Given the description of an element on the screen output the (x, y) to click on. 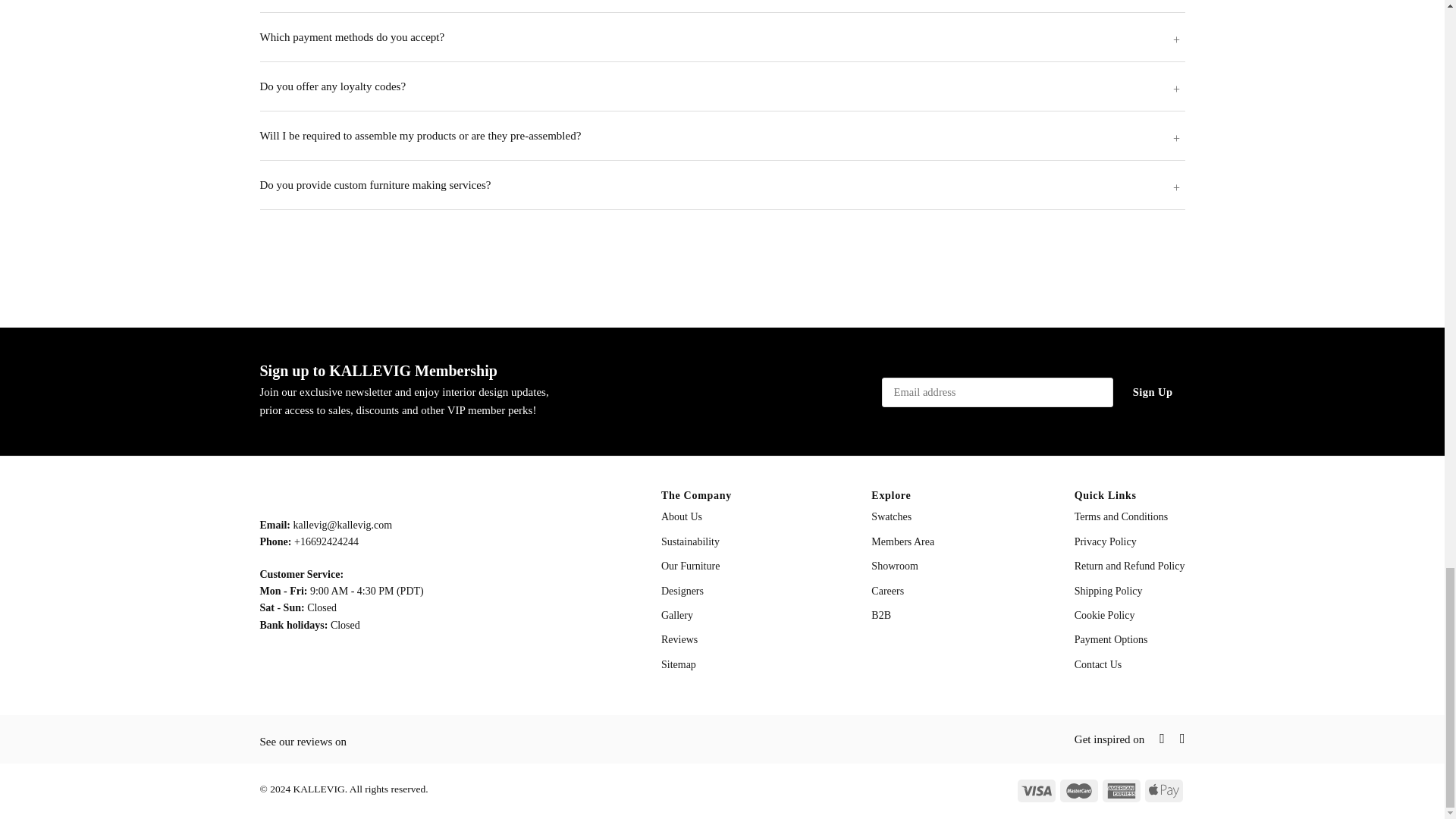
Trustpilot (381, 739)
Facebook (1154, 739)
Store phone number (326, 541)
Instagram (1174, 739)
